Given the description of an element on the screen output the (x, y) to click on. 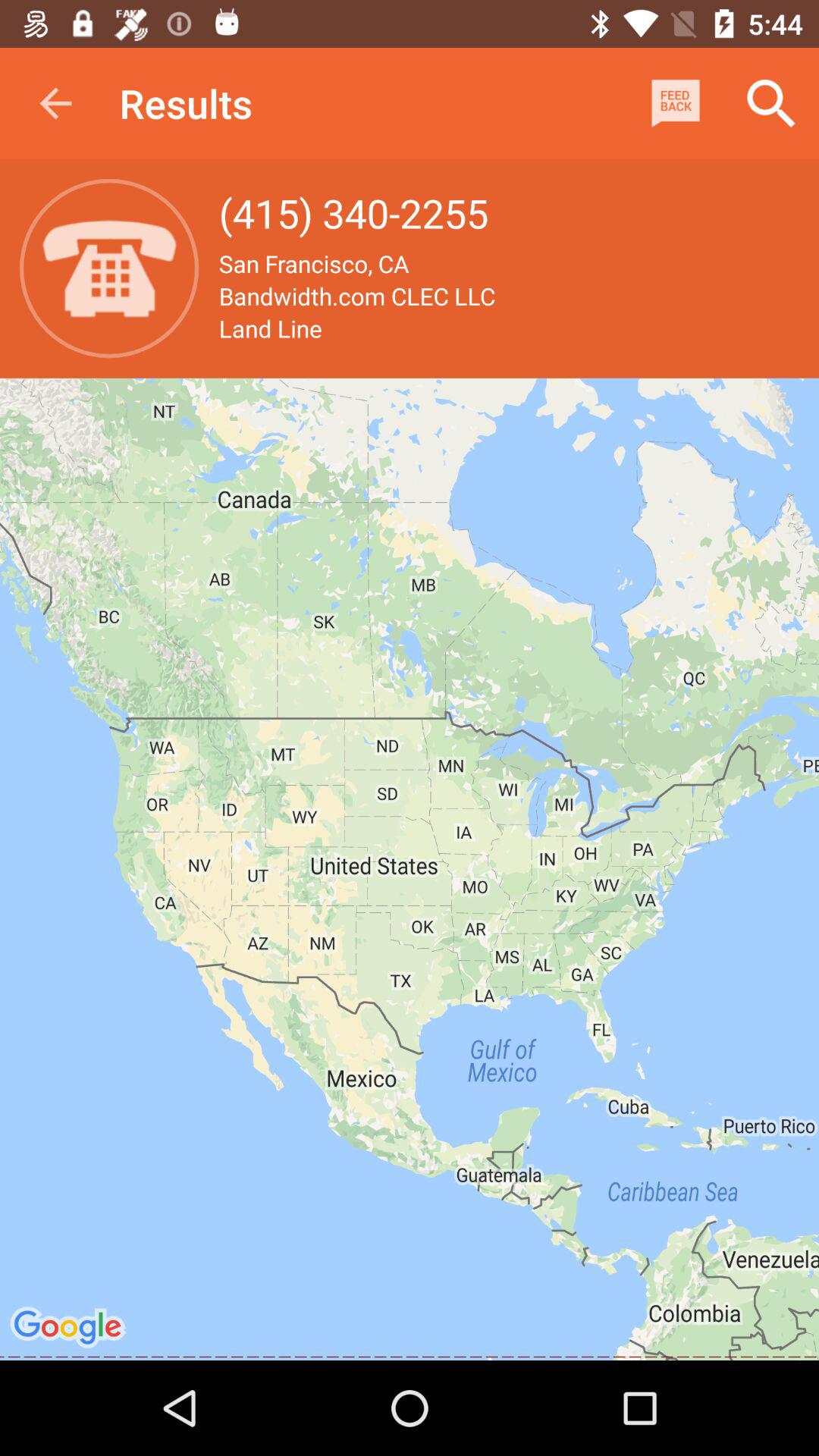
turn on the icon to the right of the results item (675, 103)
